Given the description of an element on the screen output the (x, y) to click on. 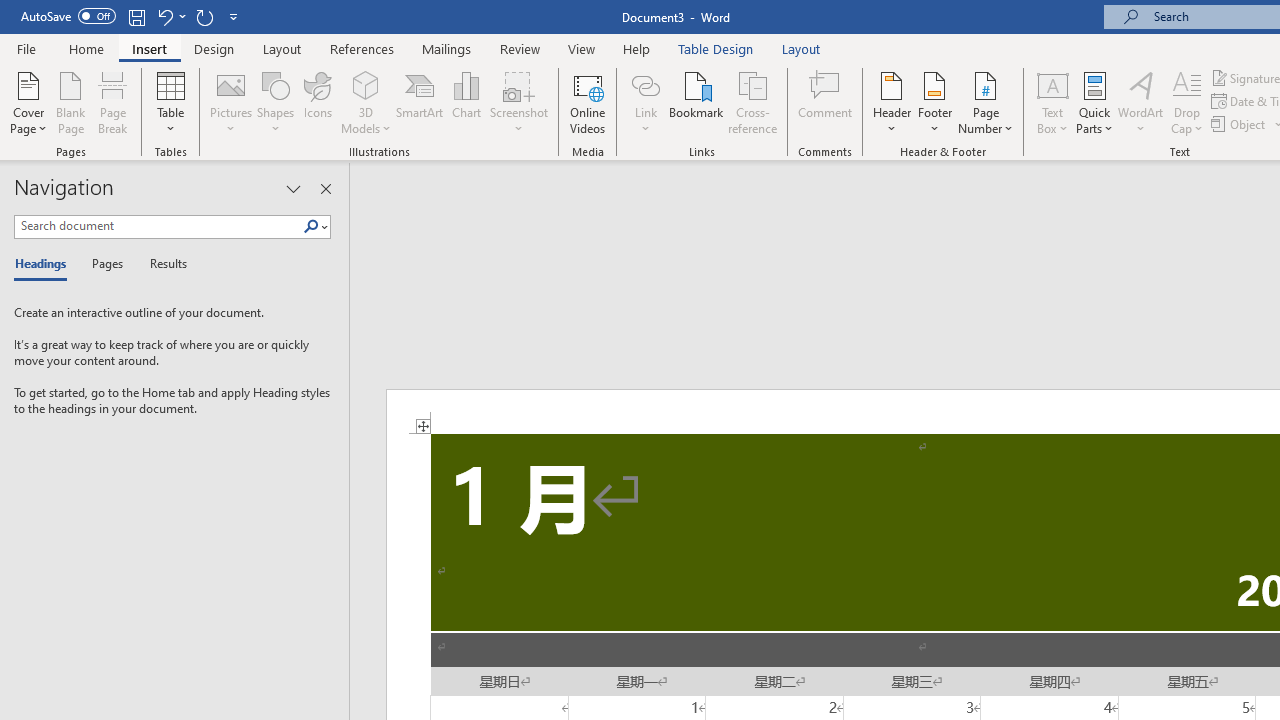
SmartArt... (419, 102)
Cross-reference... (752, 102)
Object... (1240, 124)
